Given the description of an element on the screen output the (x, y) to click on. 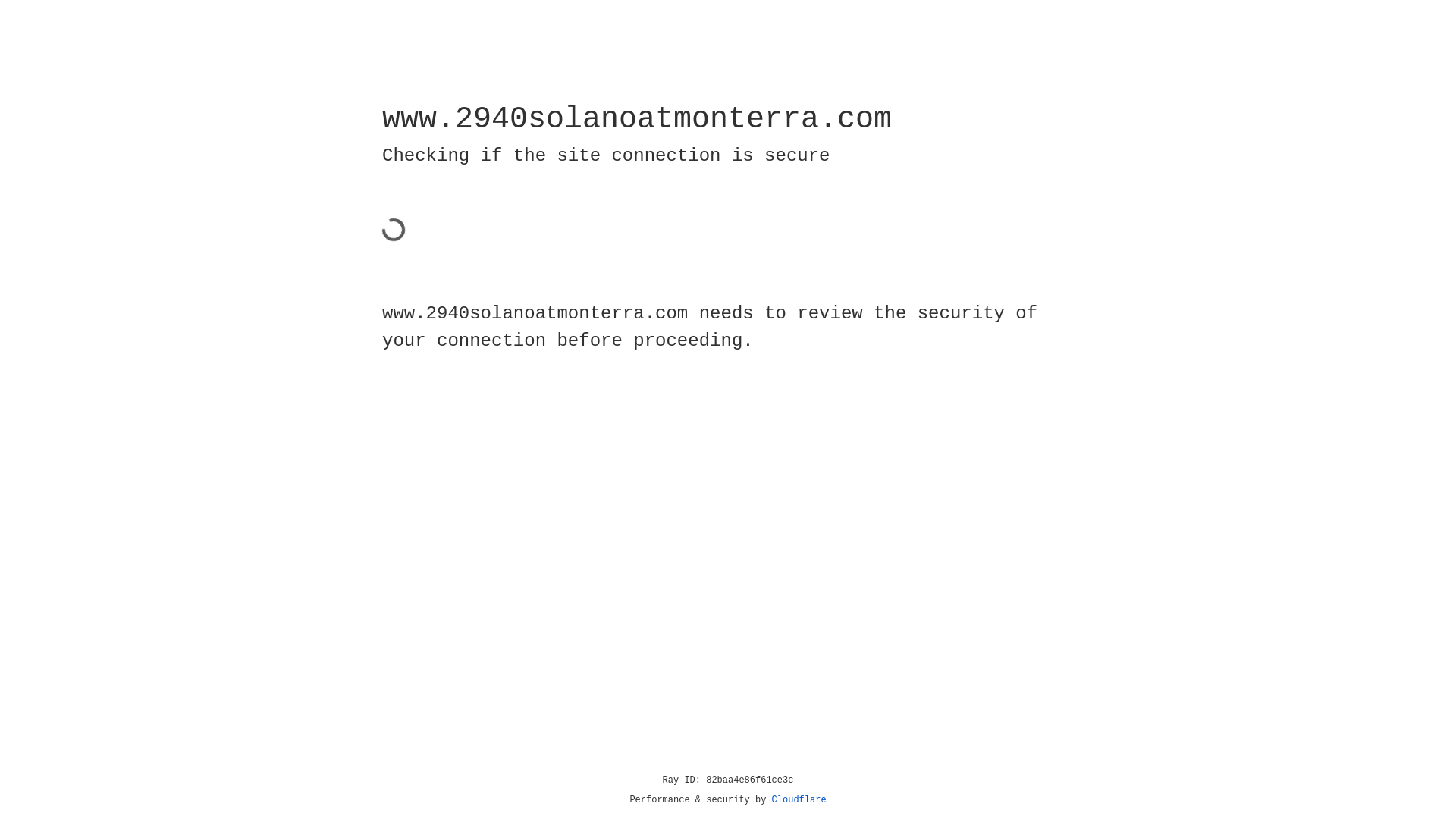
Cloudflare Element type: text (798, 799)
